Given the description of an element on the screen output the (x, y) to click on. 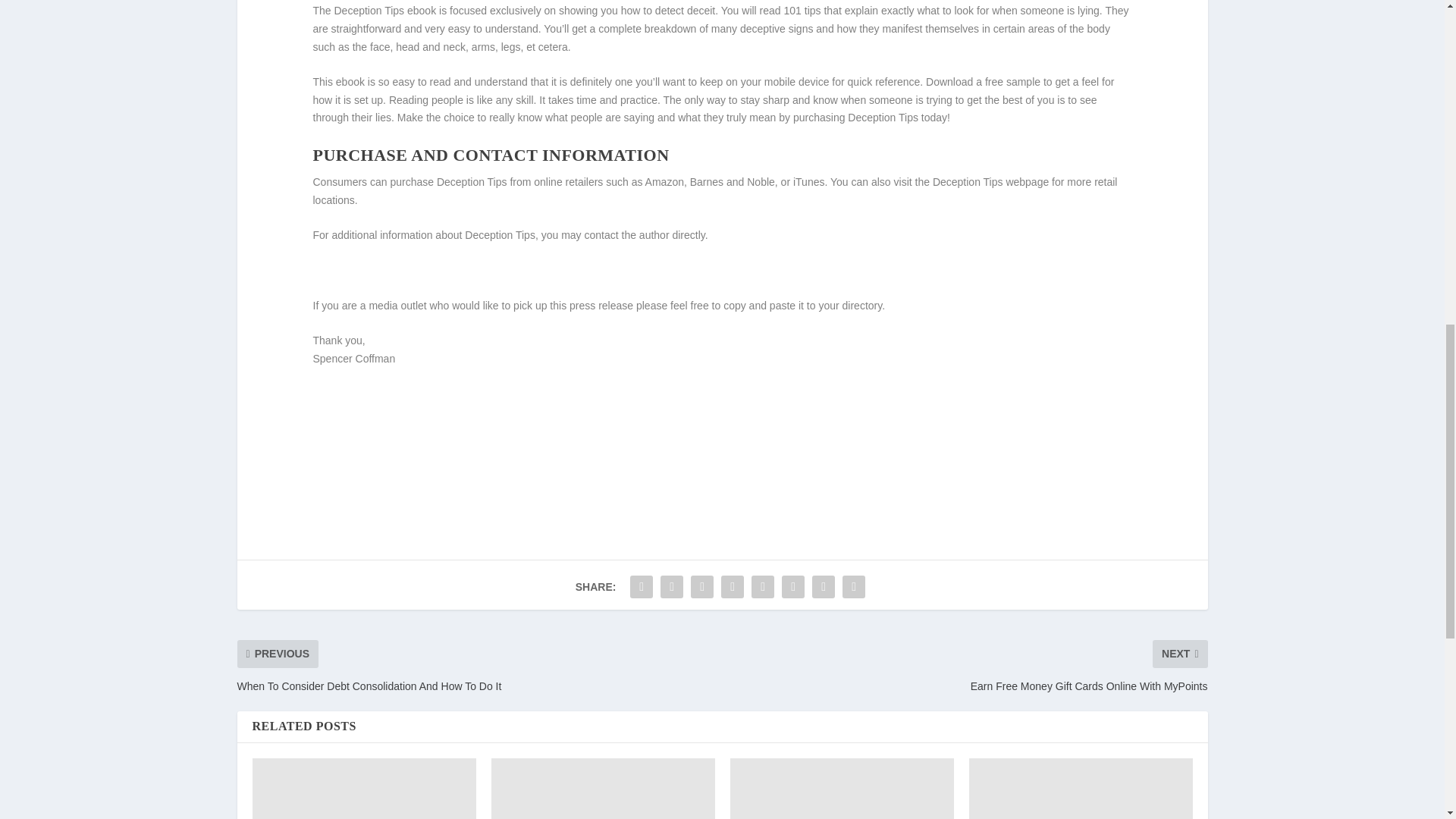
Amazon (664, 182)
Barnes and Noble (732, 182)
iTunes (809, 182)
contact the author directly (643, 234)
visit the Deception Tips webpage (971, 182)
purchasing Deception Tips today (870, 117)
